Given the description of an element on the screen output the (x, y) to click on. 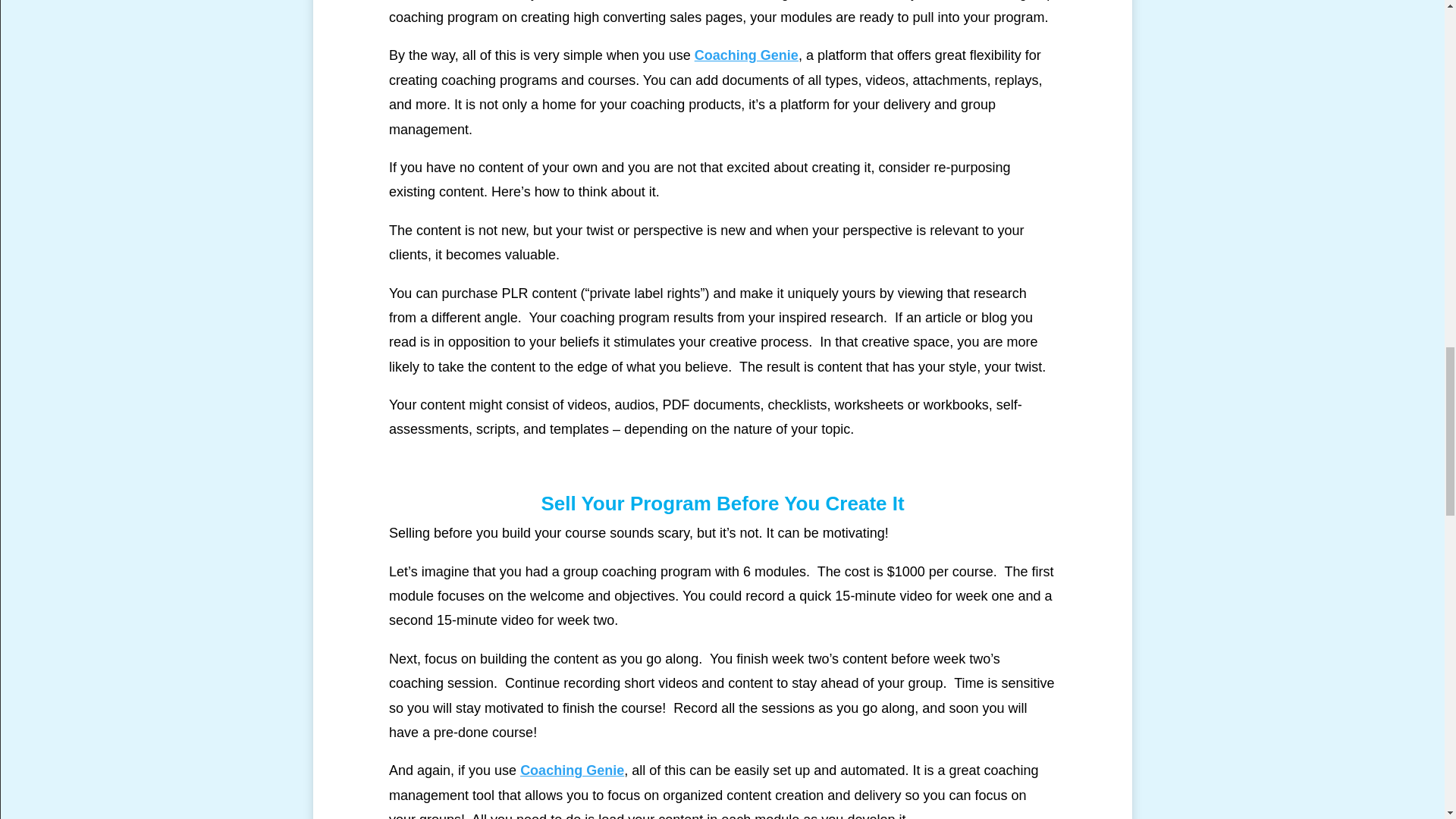
Coaching Genie (745, 55)
Coaching Genie (571, 770)
